Given the description of an element on the screen output the (x, y) to click on. 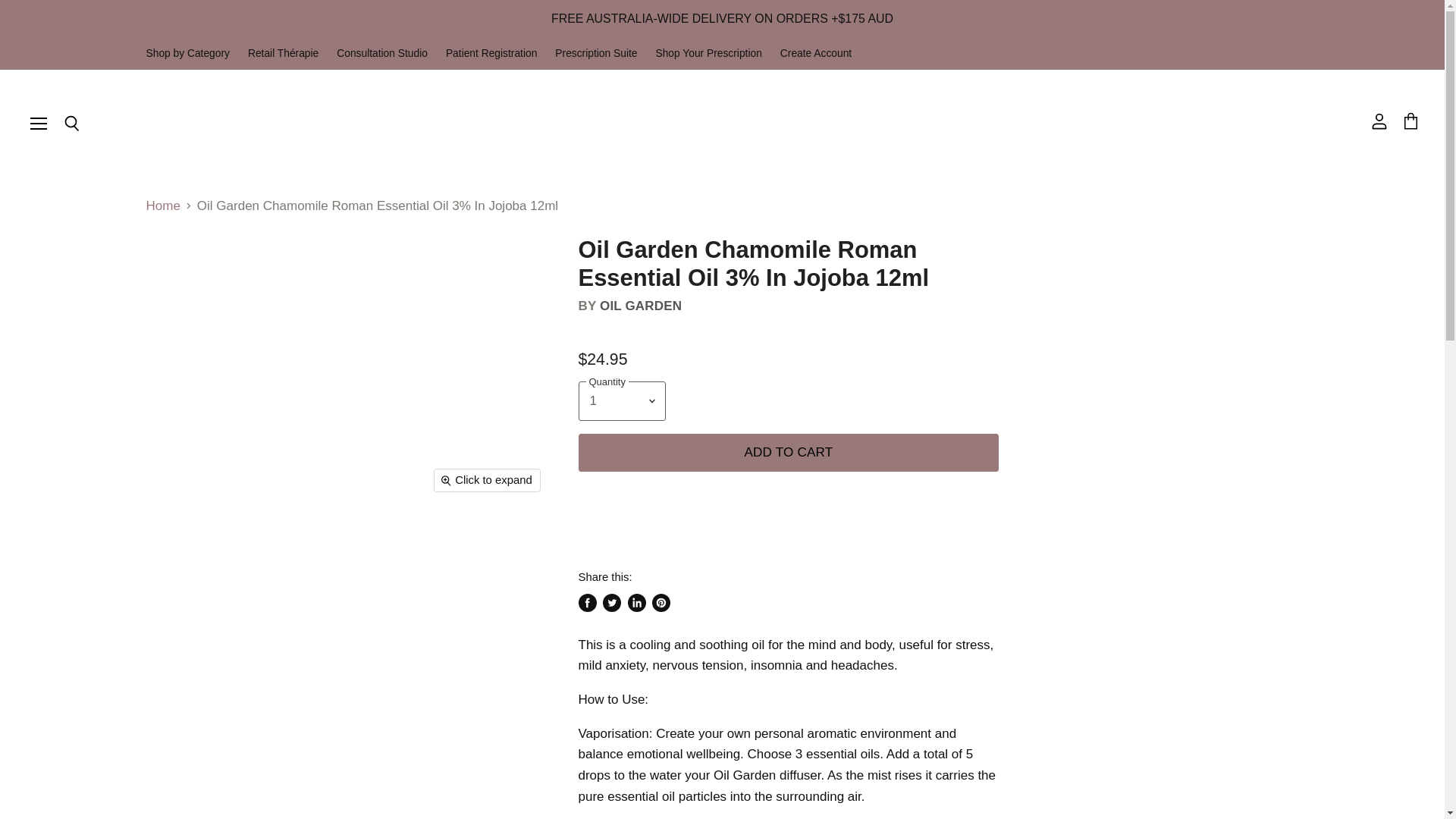
Shop Your Prescription (708, 53)
Shop by Category (186, 53)
Consultation Studio (382, 53)
Oil Garden (640, 305)
Menu (39, 122)
Create Account (815, 53)
Search (71, 124)
Prescription Suite (595, 53)
Patient Registration (491, 53)
